Given the description of an element on the screen output the (x, y) to click on. 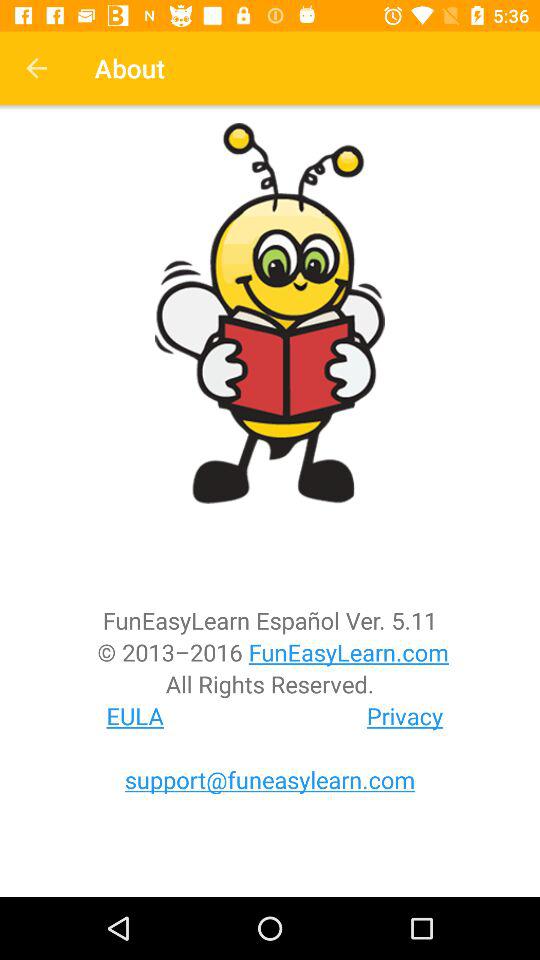
turn on the item to the left of the privacy (135, 715)
